Given the description of an element on the screen output the (x, y) to click on. 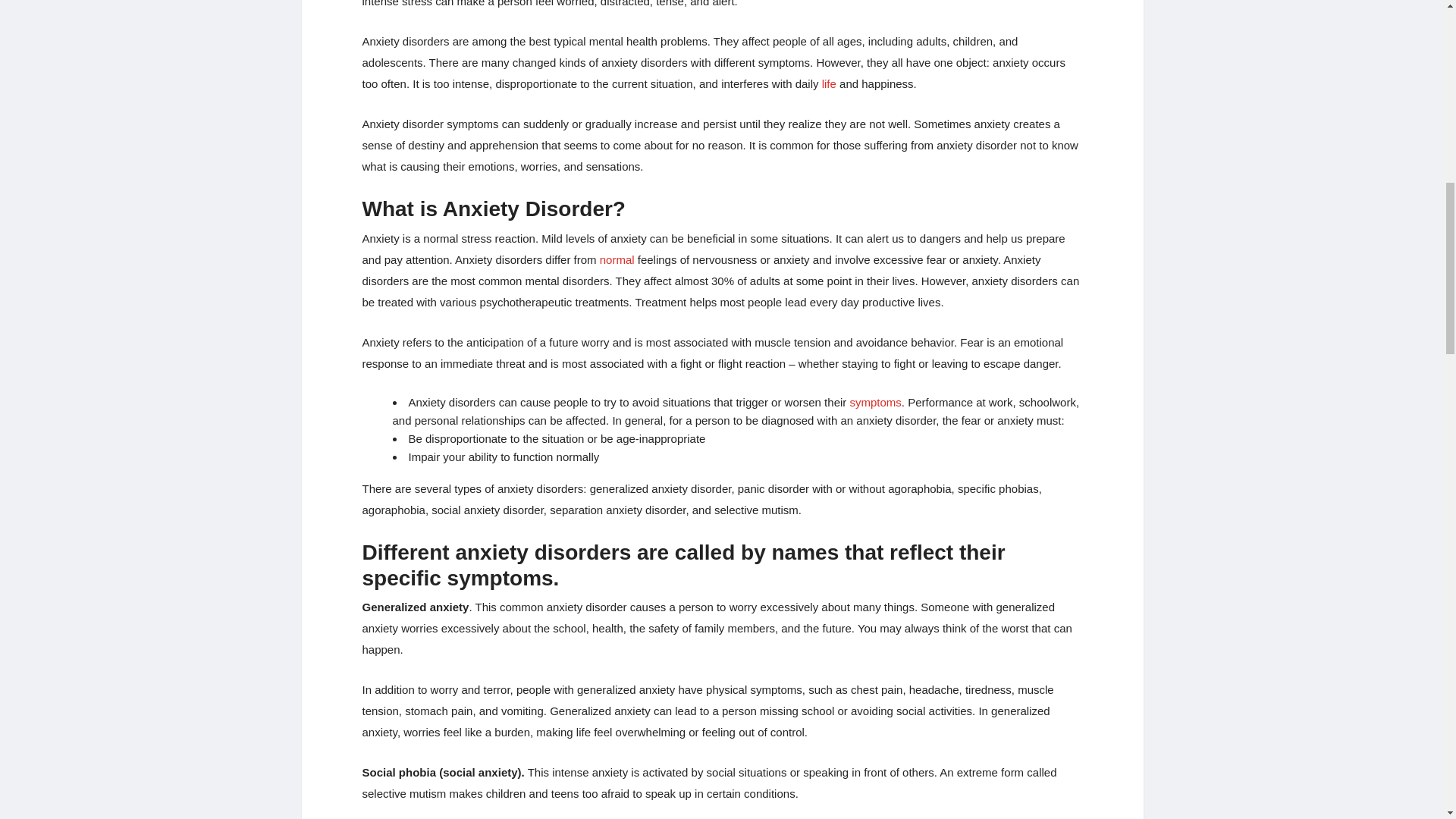
life (828, 83)
symptoms (874, 401)
normal (616, 259)
